Given the description of an element on the screen output the (x, y) to click on. 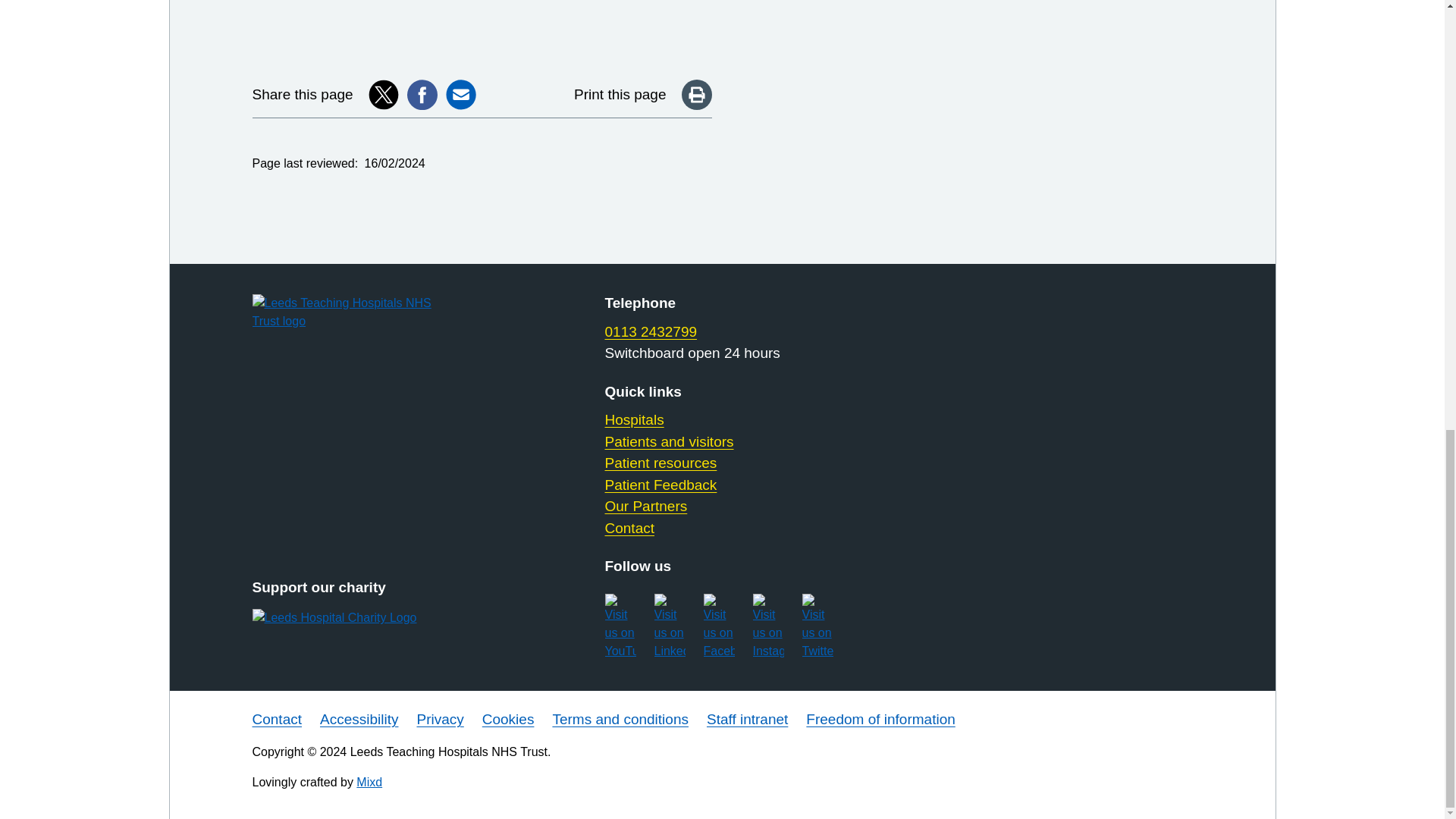
Share on Facebook (422, 94)
Share via Email (460, 94)
Leeds Teaching Hospitals NHS Trust Homepage (359, 312)
Leeds Hospital Charity (359, 618)
